Given the description of an element on the screen output the (x, y) to click on. 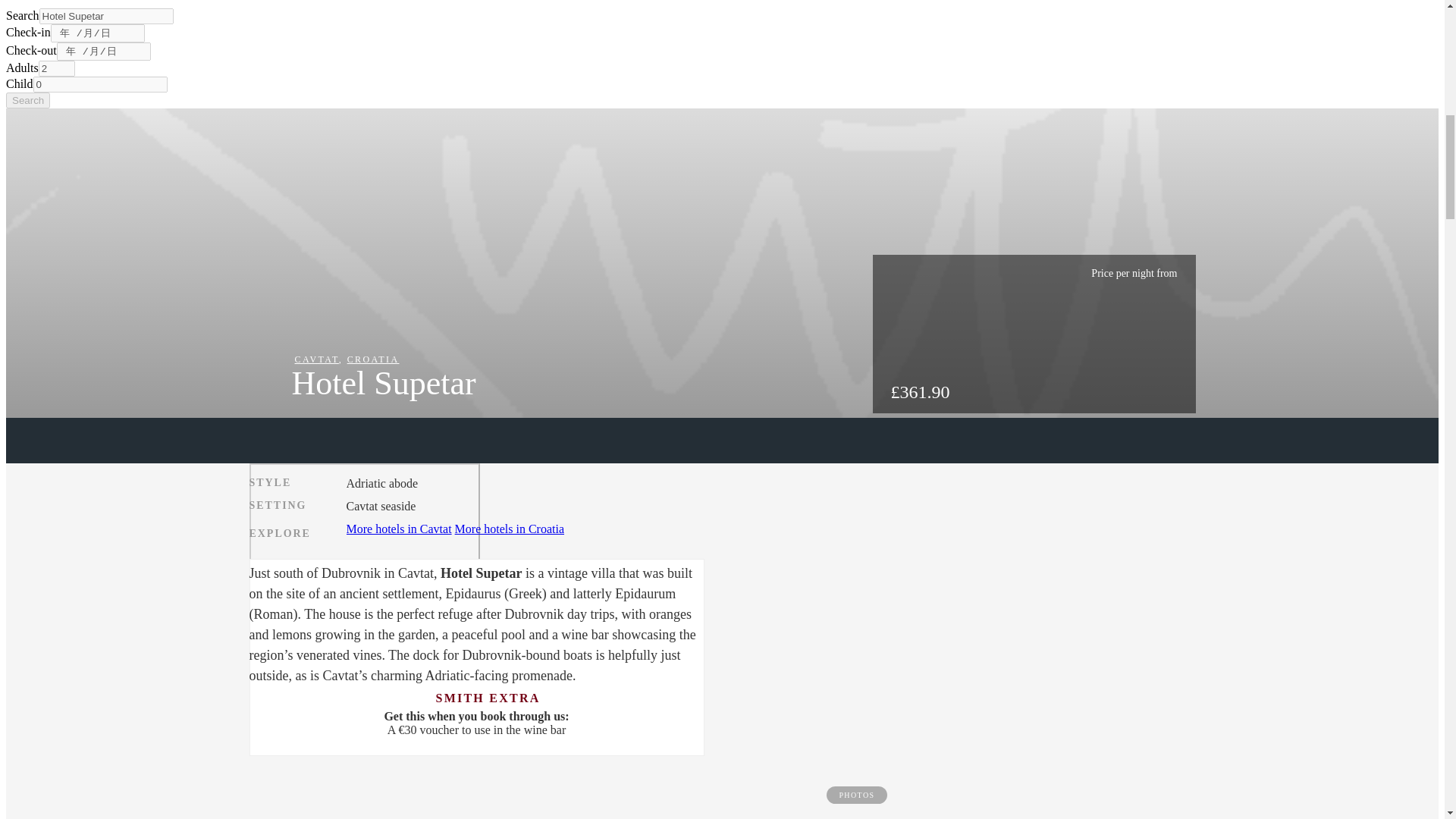
CAVTAT (315, 358)
More hotels in Cavtat (398, 528)
More hotels in Croatia (509, 528)
2 (57, 68)
Hotel Supetar (106, 16)
Hotel Supetar (106, 16)
CROATIA (372, 358)
0 (100, 84)
Photos (363, 527)
Search (27, 100)
